Given the description of an element on the screen output the (x, y) to click on. 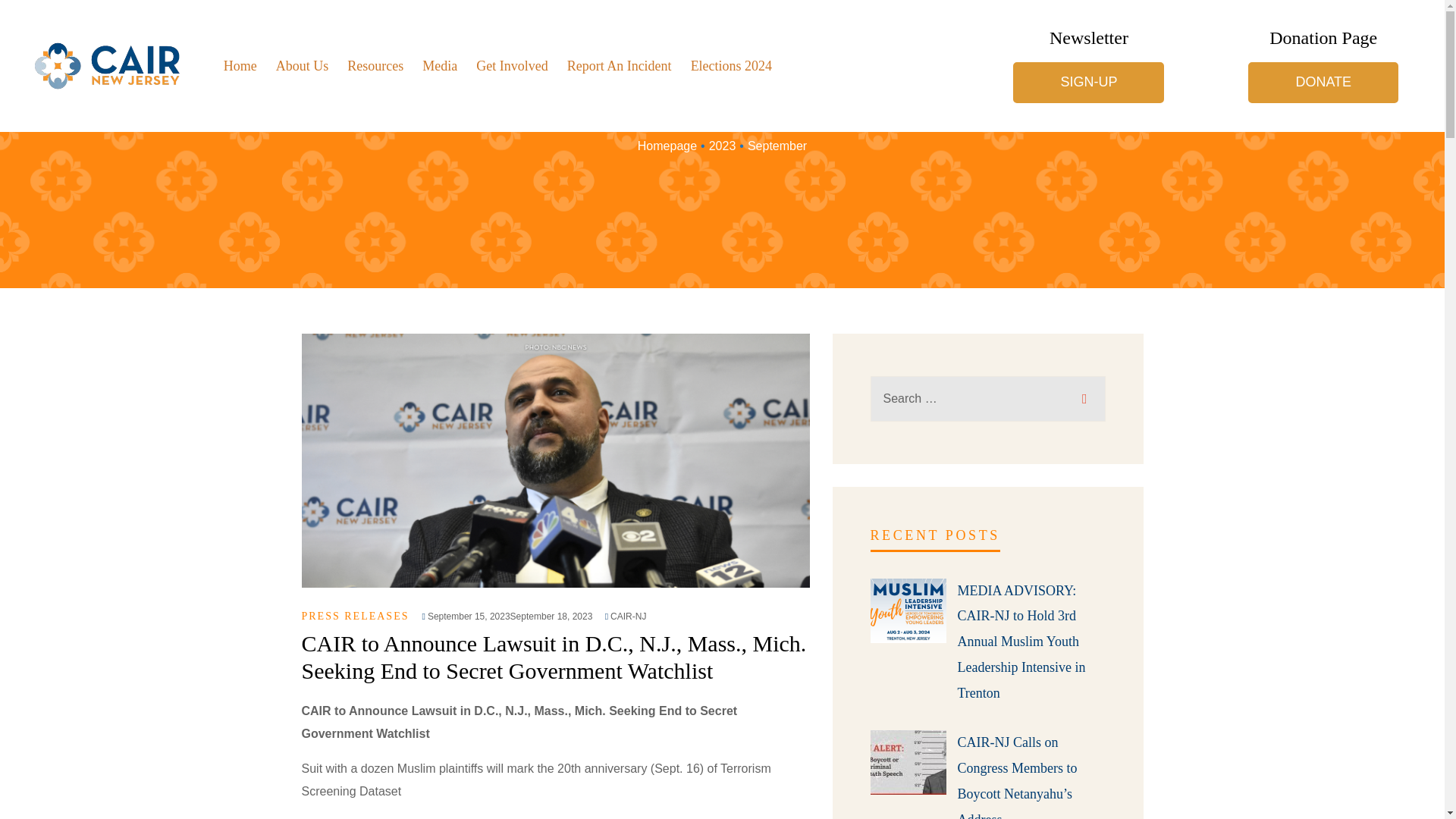
Get Involved (511, 65)
Go to CAIR NJ. (667, 145)
Go to the 2023 archives. (722, 145)
Report An Incident (619, 65)
About Us (302, 65)
Elections 2024 (730, 65)
Resources (375, 65)
